Given the description of an element on the screen output the (x, y) to click on. 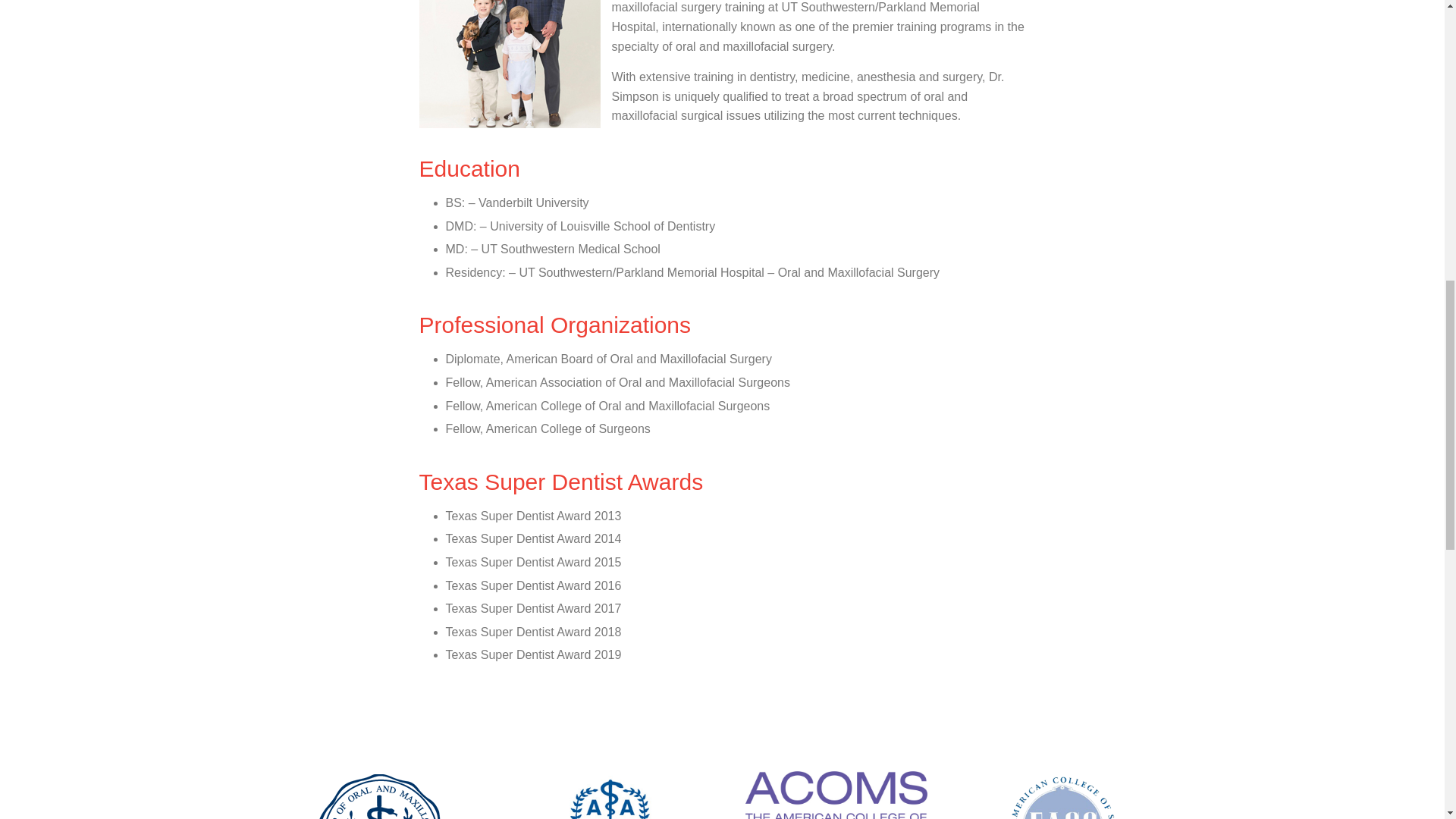
Family Photo of Dr. Charles R Simpson IV (509, 63)
